Given the description of an element on the screen output the (x, y) to click on. 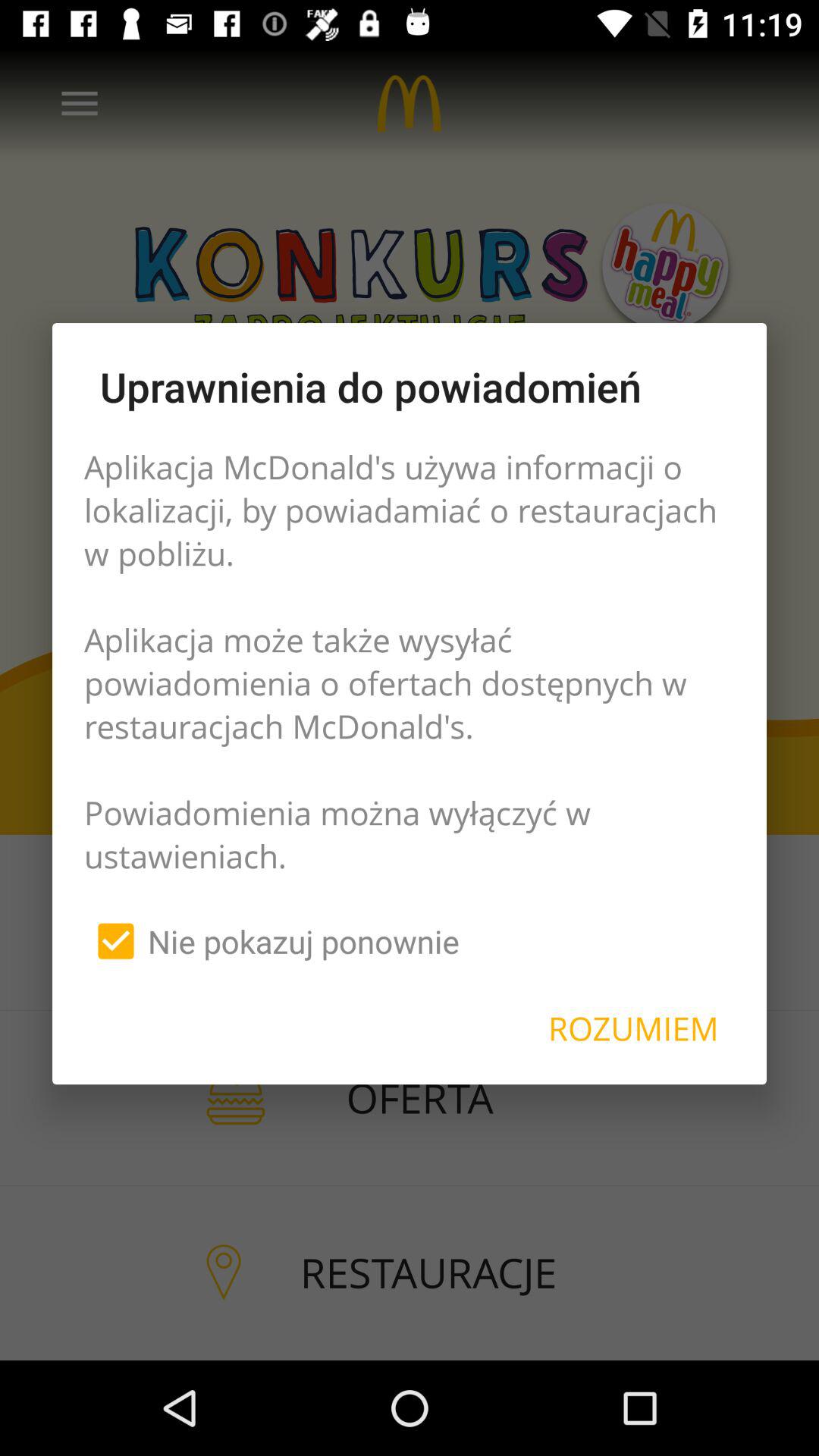
jump to the nie pokazuj ponownie item (271, 941)
